Given the description of an element on the screen output the (x, y) to click on. 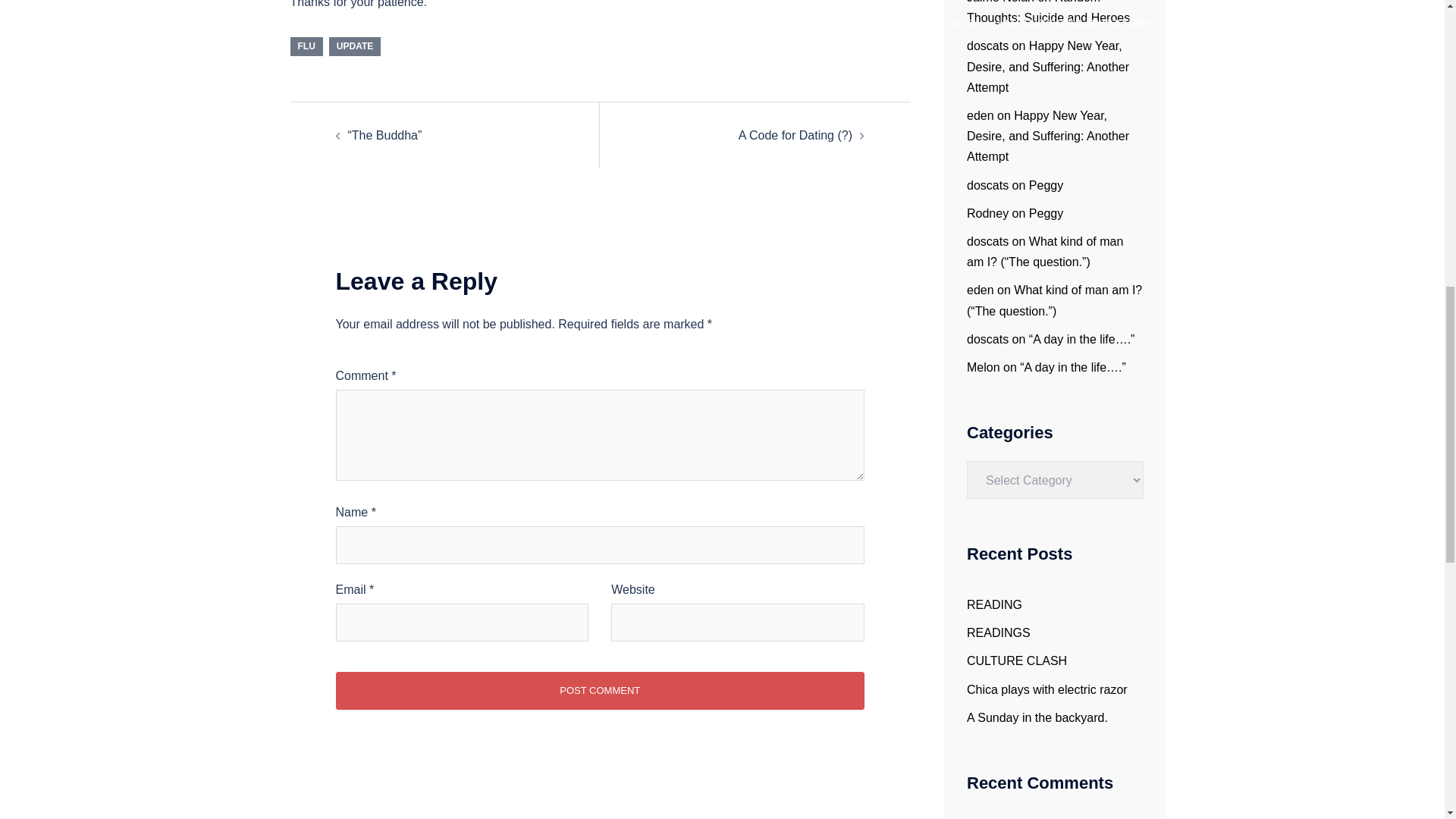
Post Comment (599, 690)
Post Comment (599, 690)
UPDATE (354, 45)
FLU (305, 45)
